Given the description of an element on the screen output the (x, y) to click on. 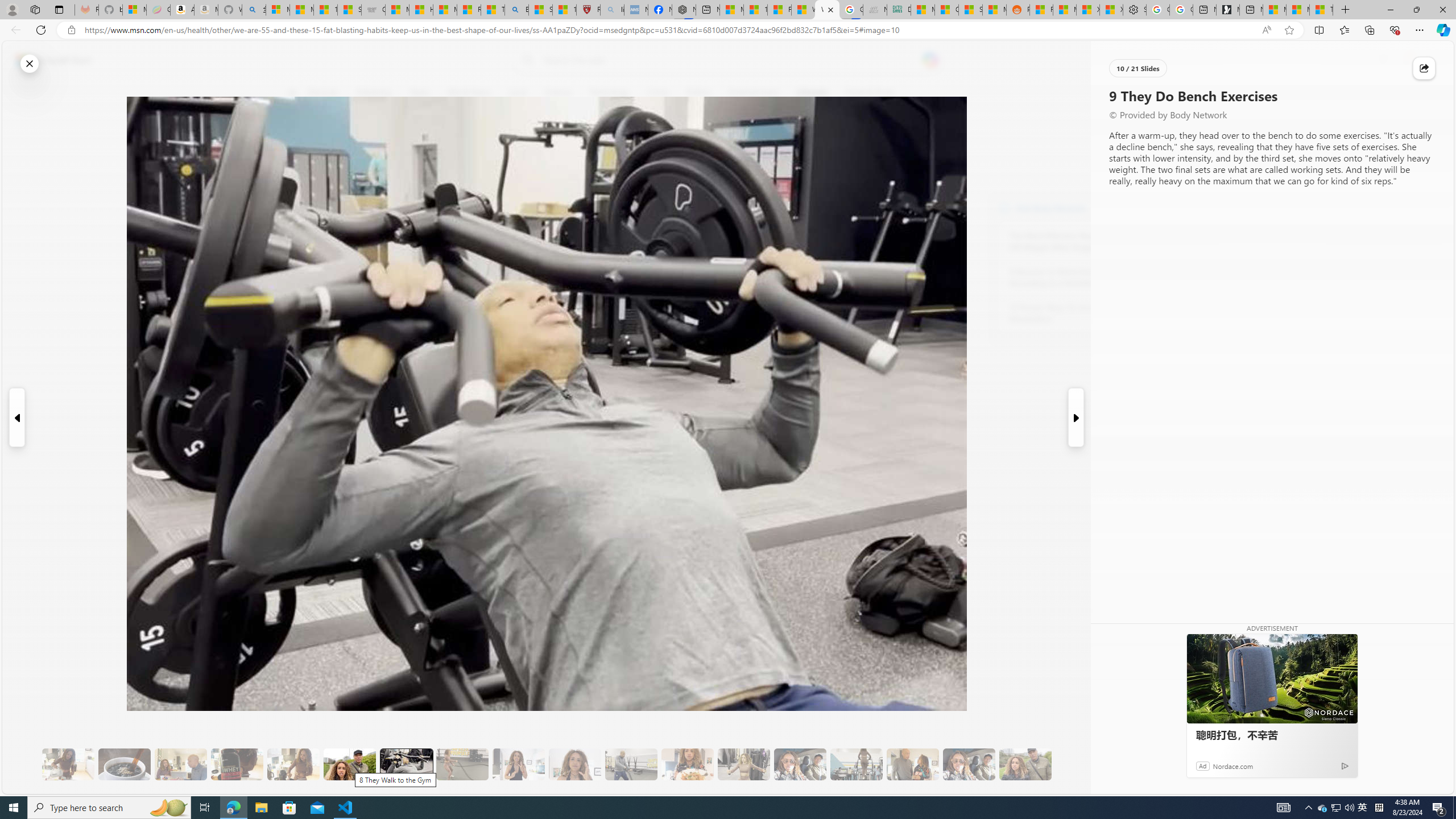
10 Then, They Do HIIT Cardio (462, 764)
Share this story (1423, 67)
Lifestyle (812, 92)
Body Network (1004, 207)
Class: at-item immersive (1423, 68)
16 The Couple's Program Helps with Accountability (800, 764)
6 Since Eating More Protein Her Training Has Improved (237, 764)
